Given the description of an element on the screen output the (x, y) to click on. 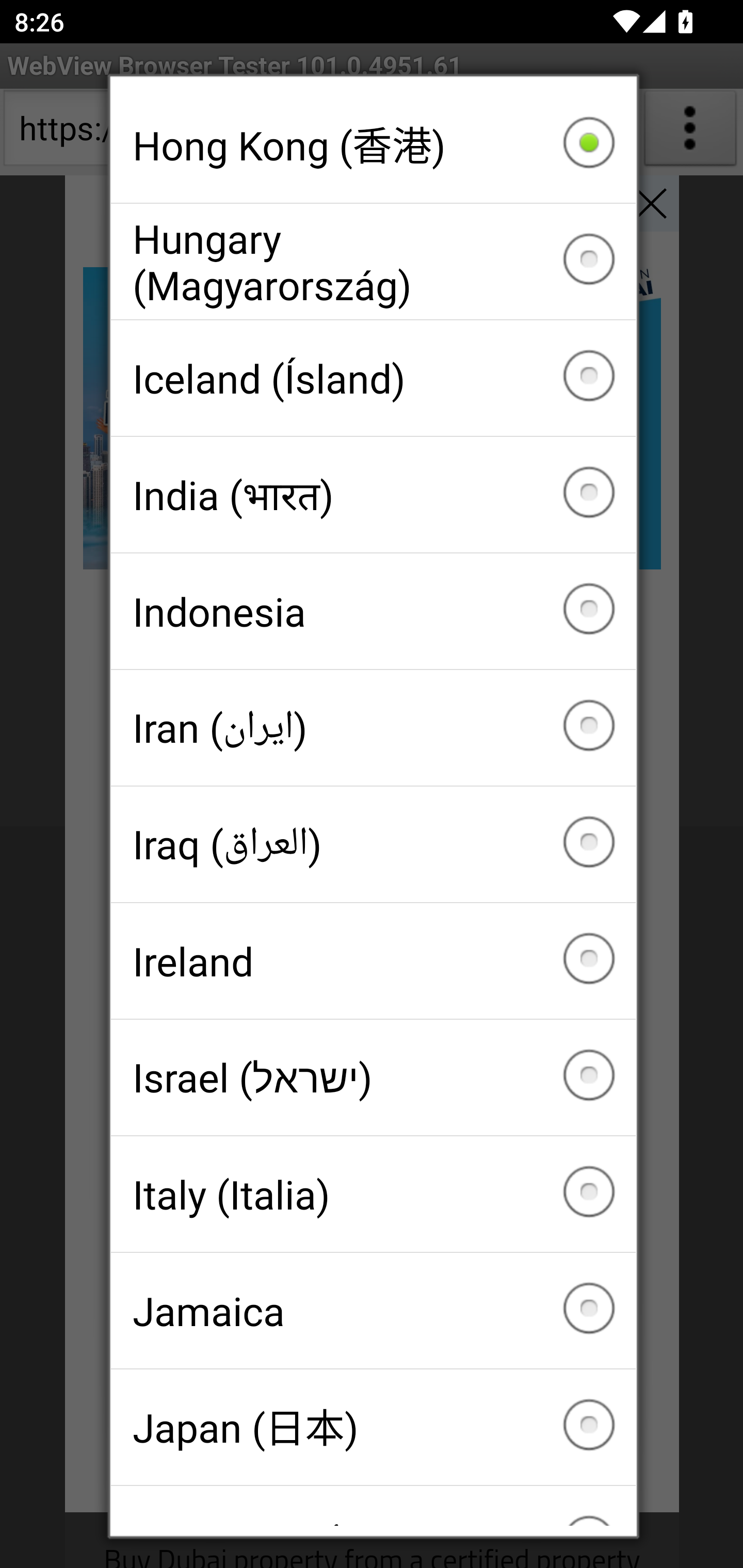
Hong Kong (香港) (373, 144)
Hungary (Magyarország) (373, 261)
Iceland (Ísland) (373, 377)
India (भारत) (373, 494)
Indonesia (373, 611)
Iran (‫ایران‬‎) (373, 727)
Iraq (‫العراق‬‎) (373, 844)
Ireland (373, 961)
Israel (‫ישראל‬‎) (373, 1077)
Italy (Italia) (373, 1193)
Jamaica (373, 1310)
Japan (日本) (373, 1426)
